Given the description of an element on the screen output the (x, y) to click on. 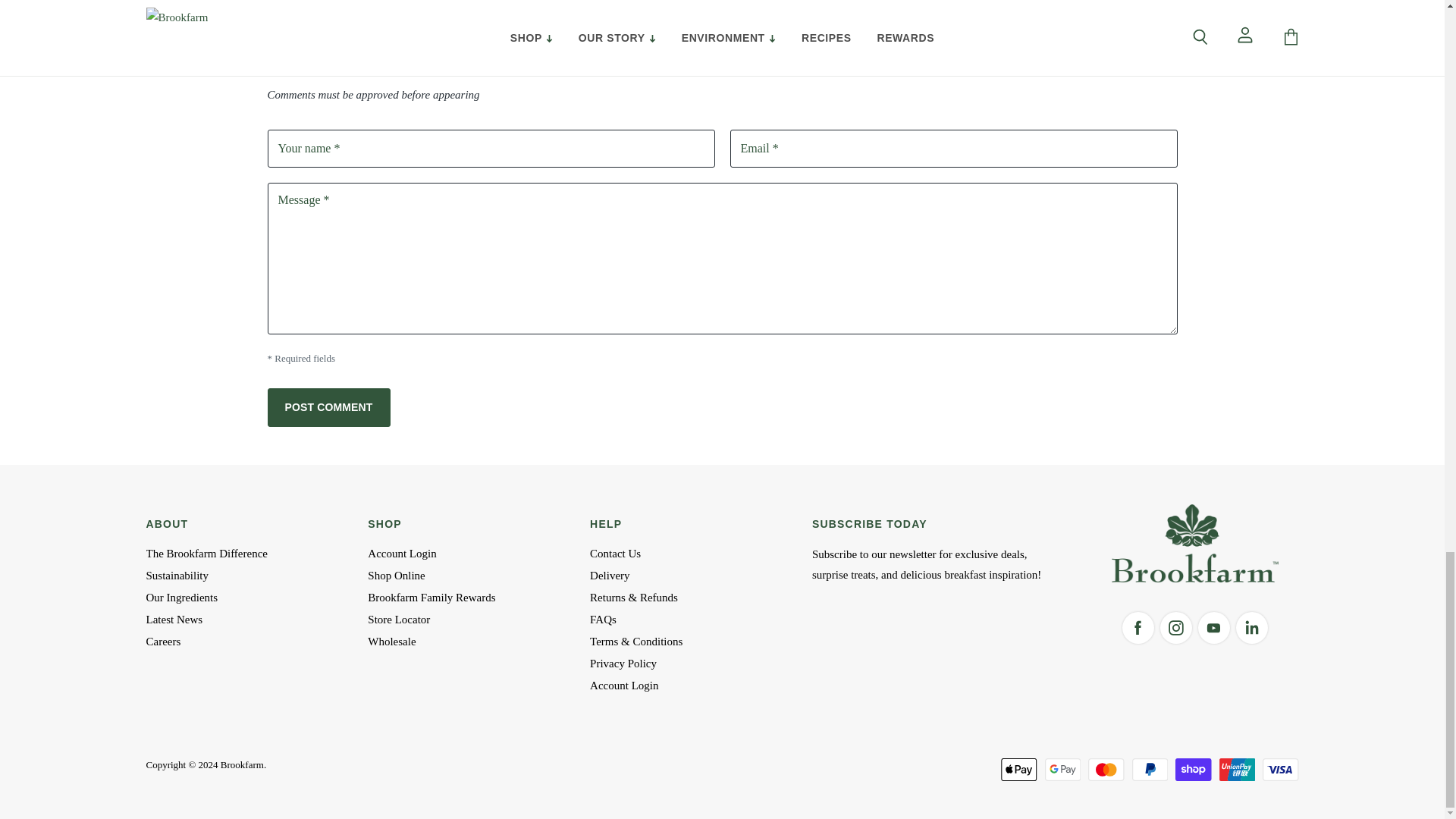
Instagram (1176, 628)
LinkedIn (1252, 628)
Facebook (1138, 628)
Youtube (1214, 628)
